Given the description of an element on the screen output the (x, y) to click on. 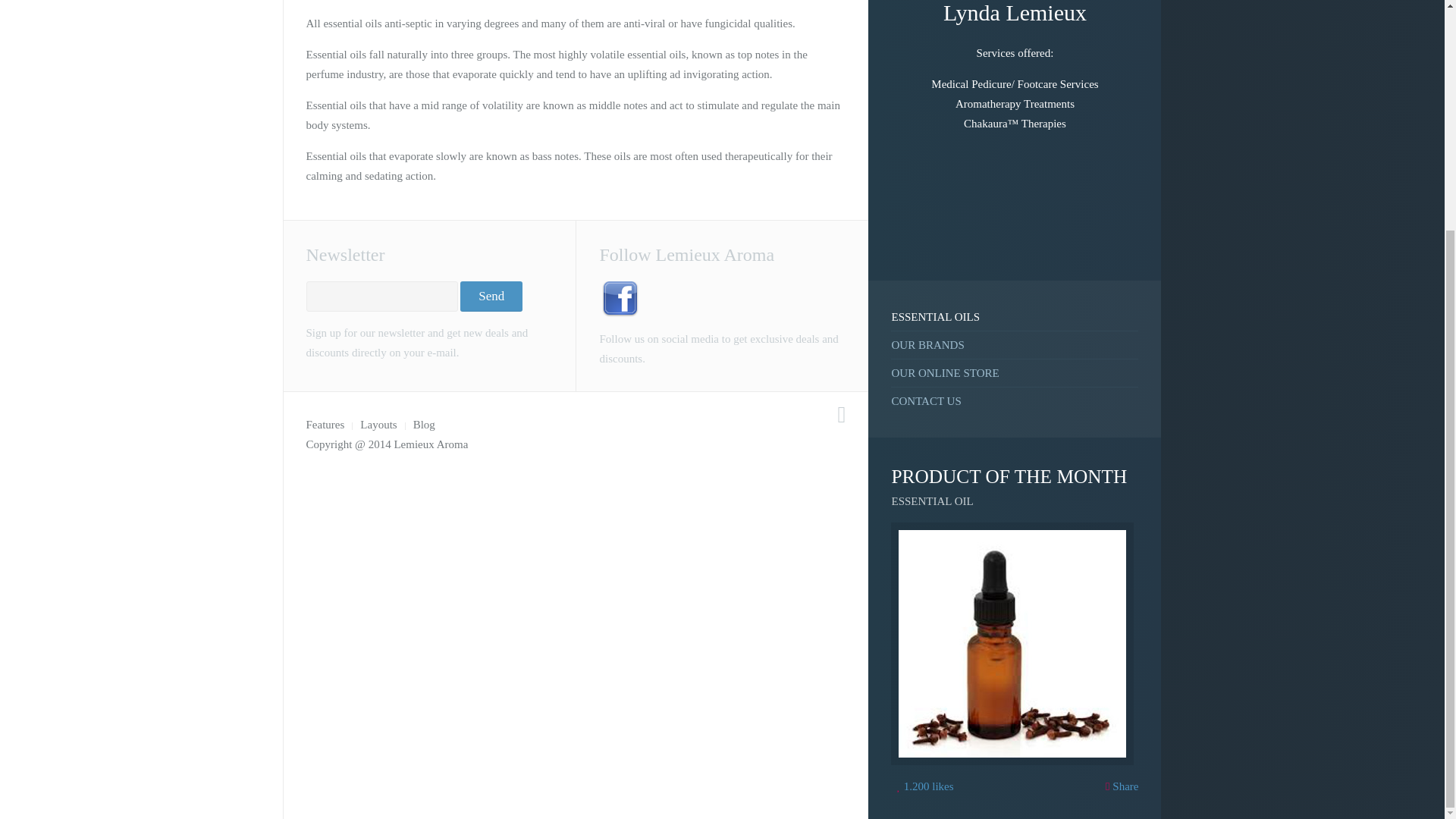
ESSENTIAL OILS (1014, 316)
Share (1121, 786)
Send (491, 296)
Layouts (377, 424)
1.200 likes (924, 786)
Features (325, 424)
CONTACT US (1014, 400)
OUR ONLINE STORE (1014, 372)
OUR BRANDS (1014, 344)
Blog (424, 424)
